Given the description of an element on the screen output the (x, y) to click on. 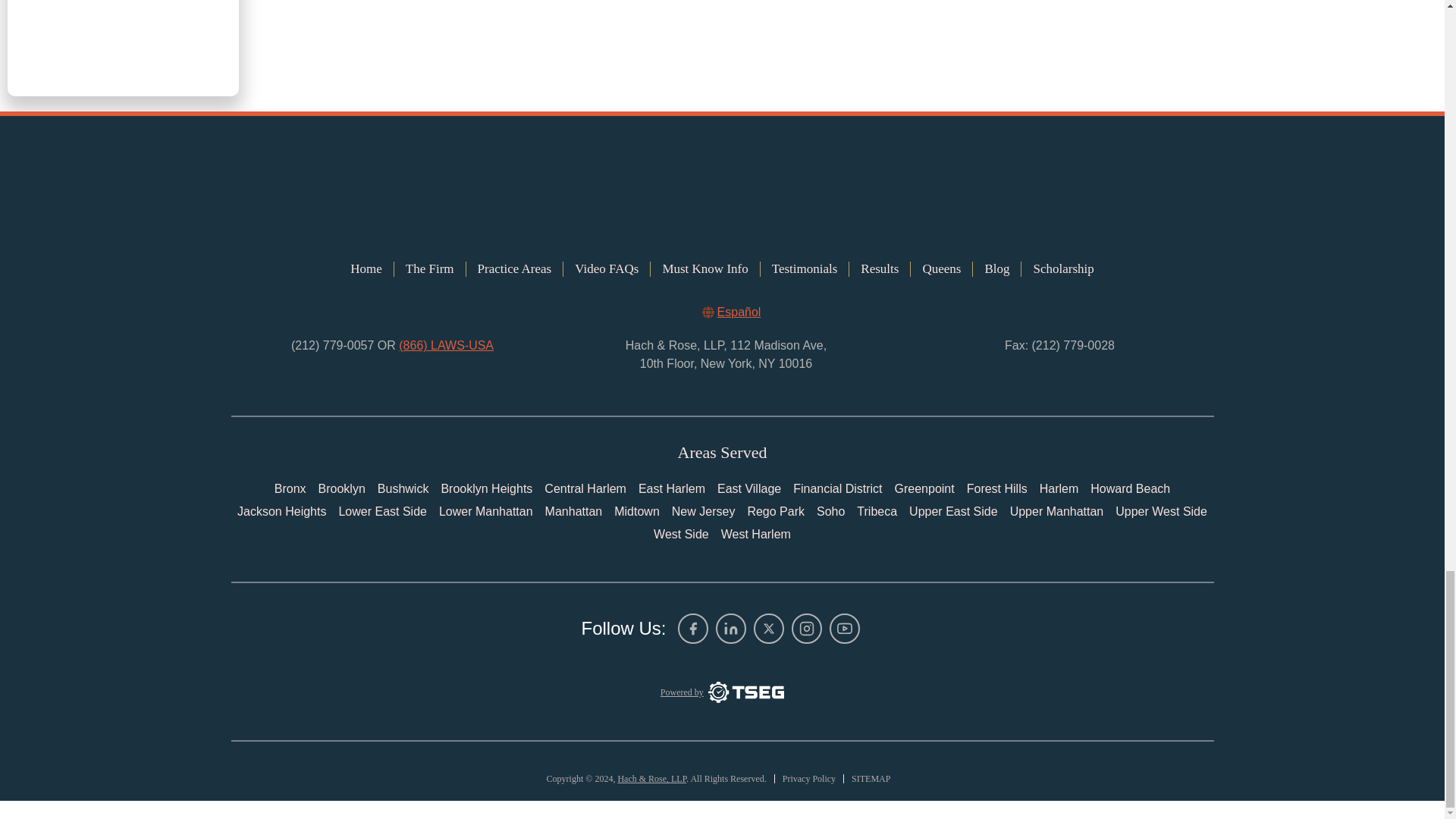
instagram (807, 628)
linkedin (730, 628)
youtube (844, 628)
facebook (692, 628)
twitter (769, 628)
